Given the description of an element on the screen output the (x, y) to click on. 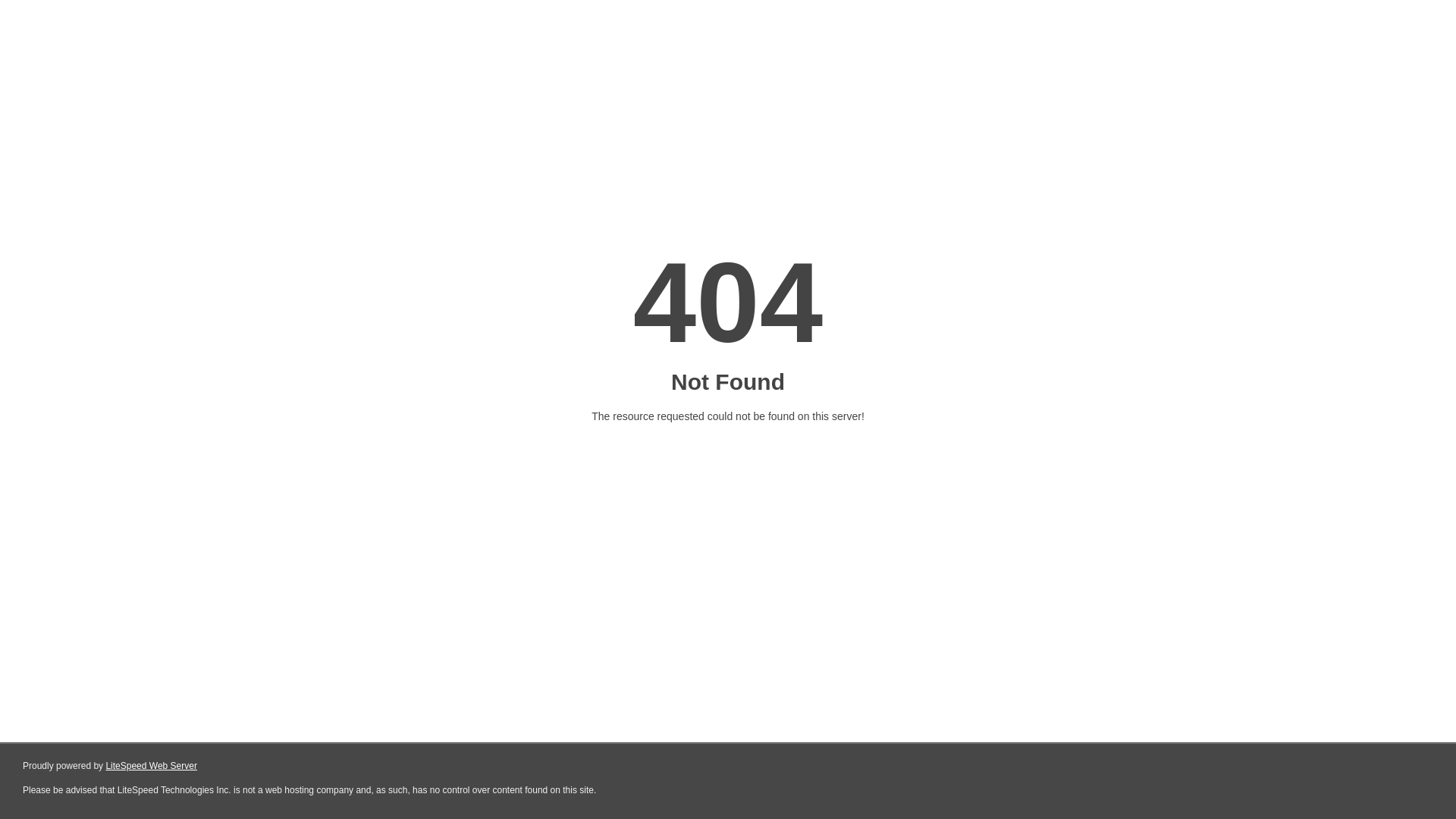
LiteSpeed Web Server Element type: text (151, 765)
